Given the description of an element on the screen output the (x, y) to click on. 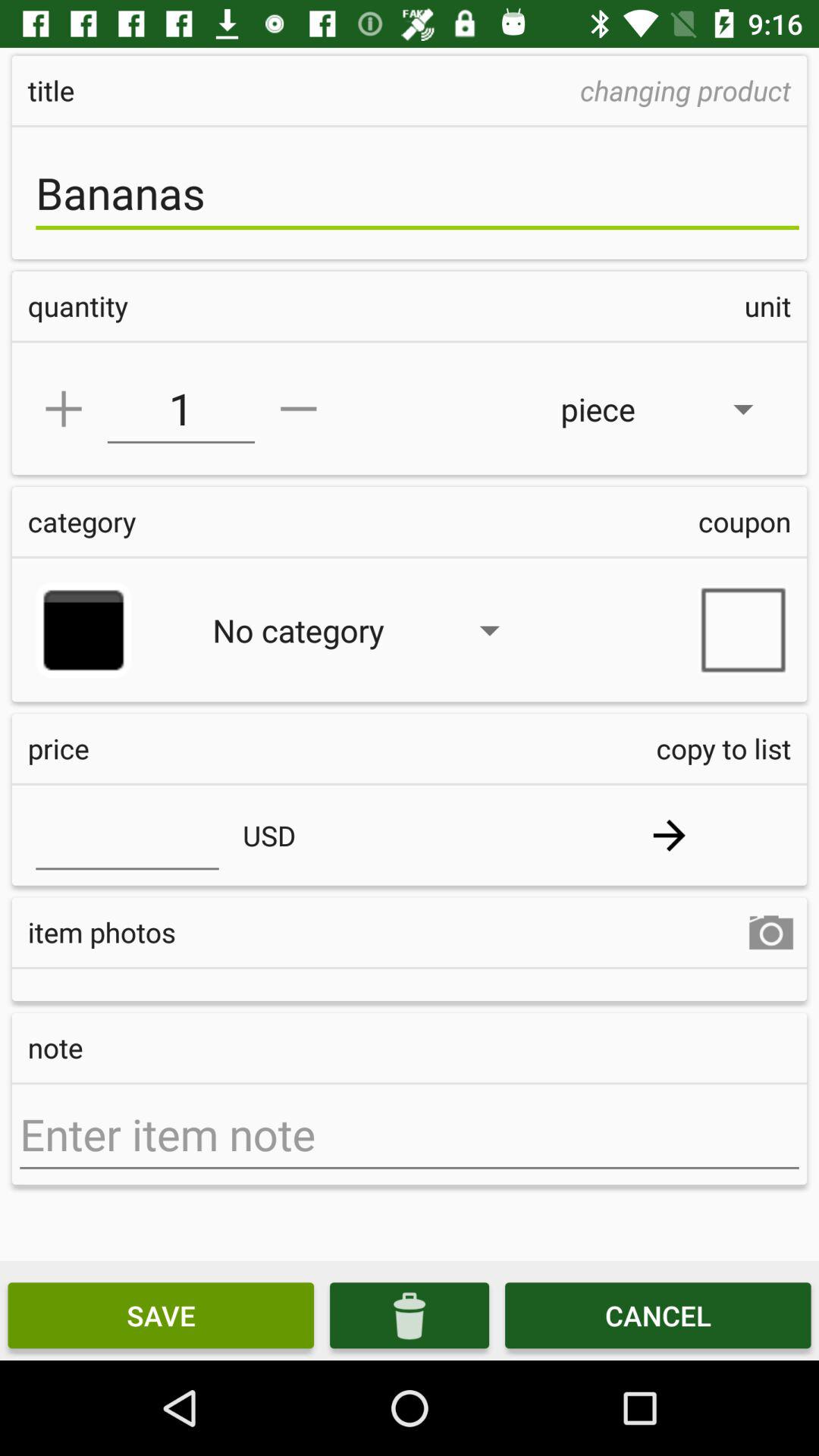
tap the bananas (417, 193)
